Given the description of an element on the screen output the (x, y) to click on. 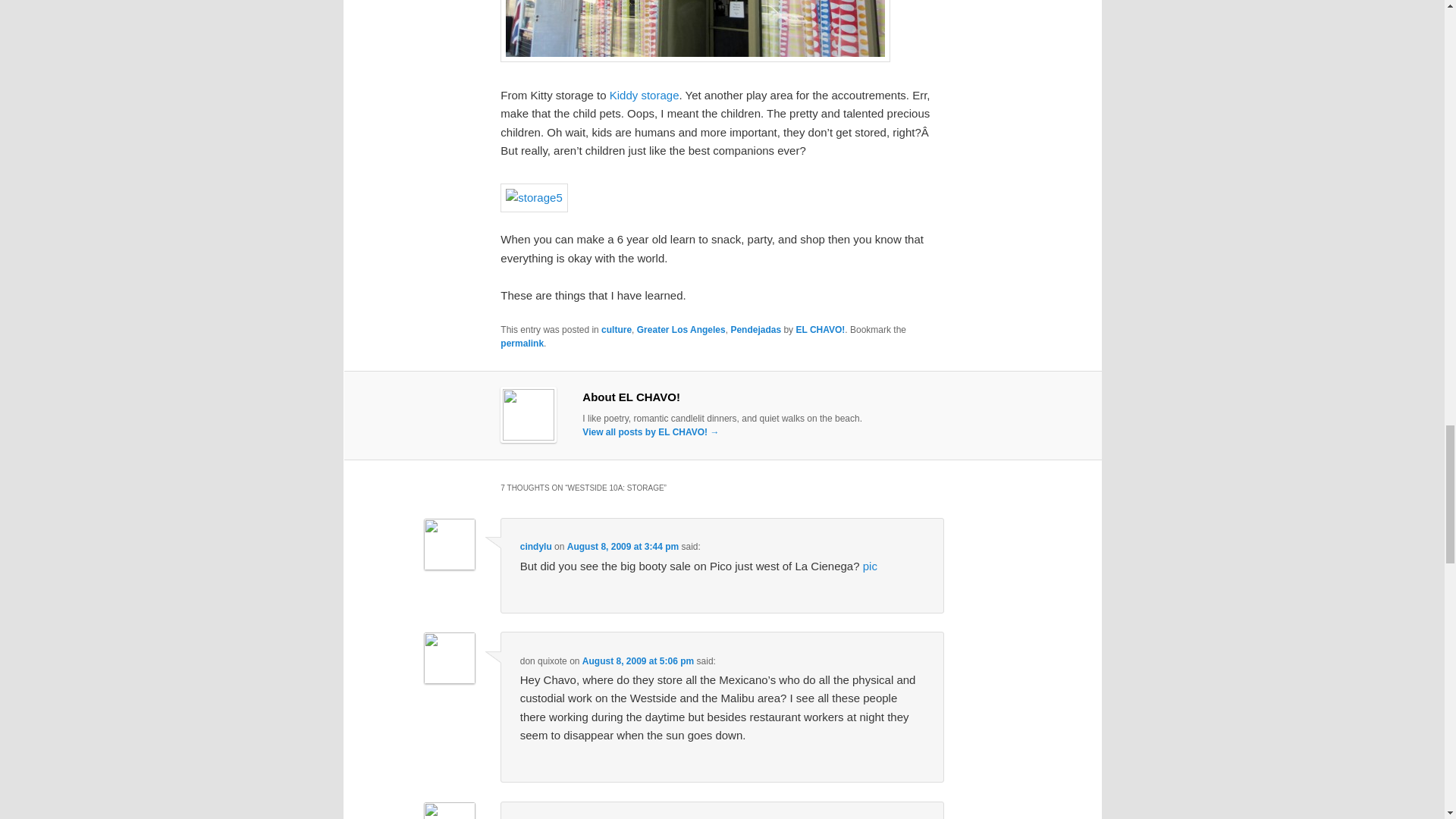
permalink (521, 343)
culture (616, 329)
storage5 (533, 197)
Kiddy storage (644, 94)
August 8, 2009 at 5:06 pm (638, 661)
Permalink to Westside 10A: Storage (521, 343)
August 8, 2009 at 3:44 pm (622, 546)
pic (870, 565)
Pendejadas (755, 329)
Greater Los Angeles (681, 329)
cindylu (535, 546)
storage4 (694, 31)
EL CHAVO! (819, 329)
